Given the description of an element on the screen output the (x, y) to click on. 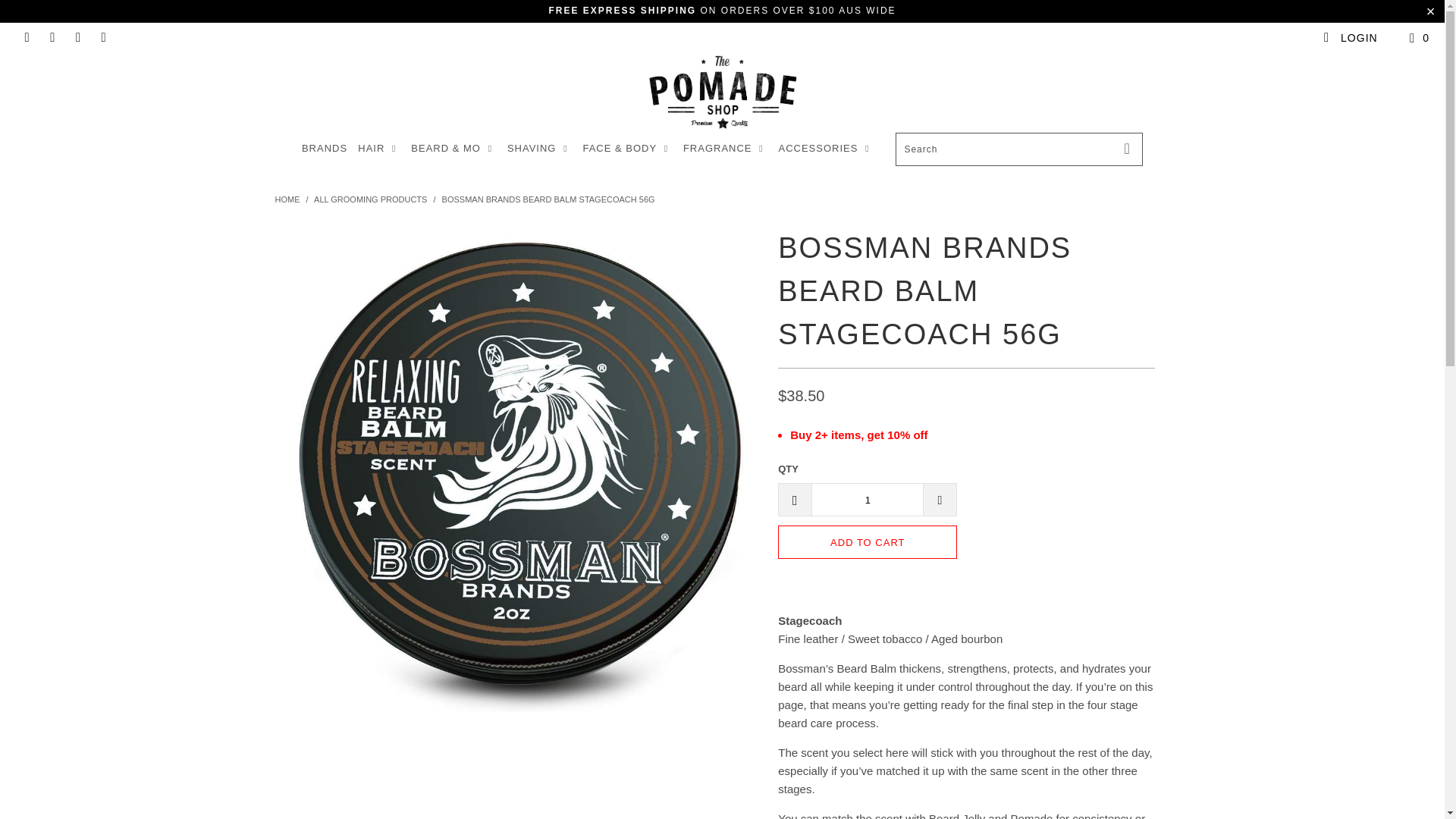
The Pomade Shop on Twitter (25, 37)
The Pomade Shop (287, 198)
Email The Pomade Shop (103, 37)
The Pomade Shop on Instagram (76, 37)
My Account  (1350, 37)
The Pomade Shop on Facebook (52, 37)
ALL GROOMING PRODUCTS (371, 198)
1 (866, 499)
